Given the description of an element on the screen output the (x, y) to click on. 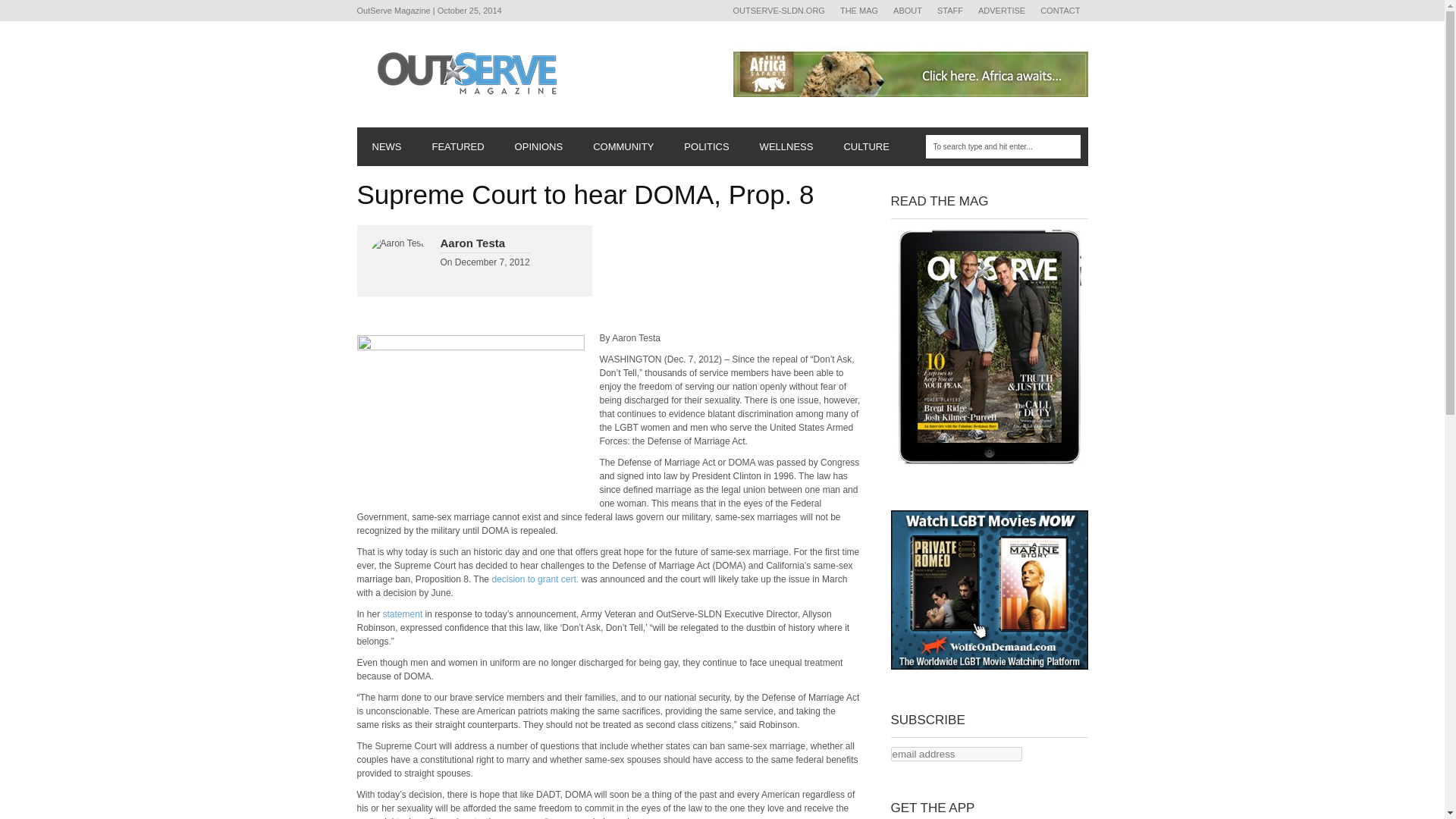
COMMUNITY (623, 146)
Posts by Aaron Testa (472, 242)
ABOUT (907, 10)
NEWS (386, 146)
OPINIONS (538, 146)
ADVERTISE (1001, 10)
To search type and hit enter... (1002, 146)
POLITICS (706, 146)
OUTSERVE-SLDN.ORG (778, 10)
Supreme Court to hear DOMA, Prop 8 (469, 415)
WELLNESS (786, 146)
FEATURED (457, 146)
THE MAG (858, 10)
STAFF (950, 10)
CULTURE (866, 146)
